Given the description of an element on the screen output the (x, y) to click on. 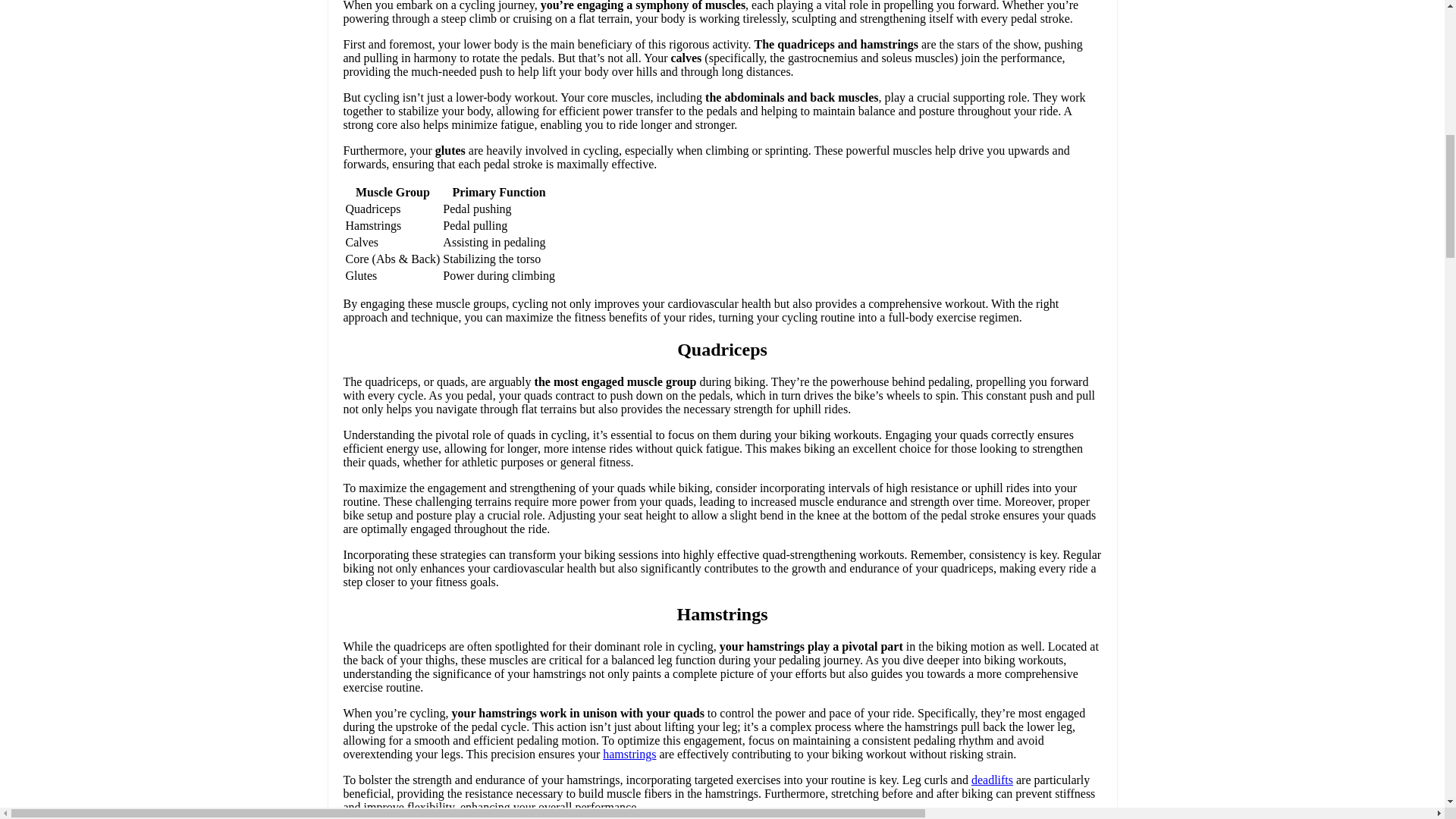
deadlifts (992, 779)
deadlifts (992, 779)
hamstrings (629, 753)
